Given the description of an element on the screen output the (x, y) to click on. 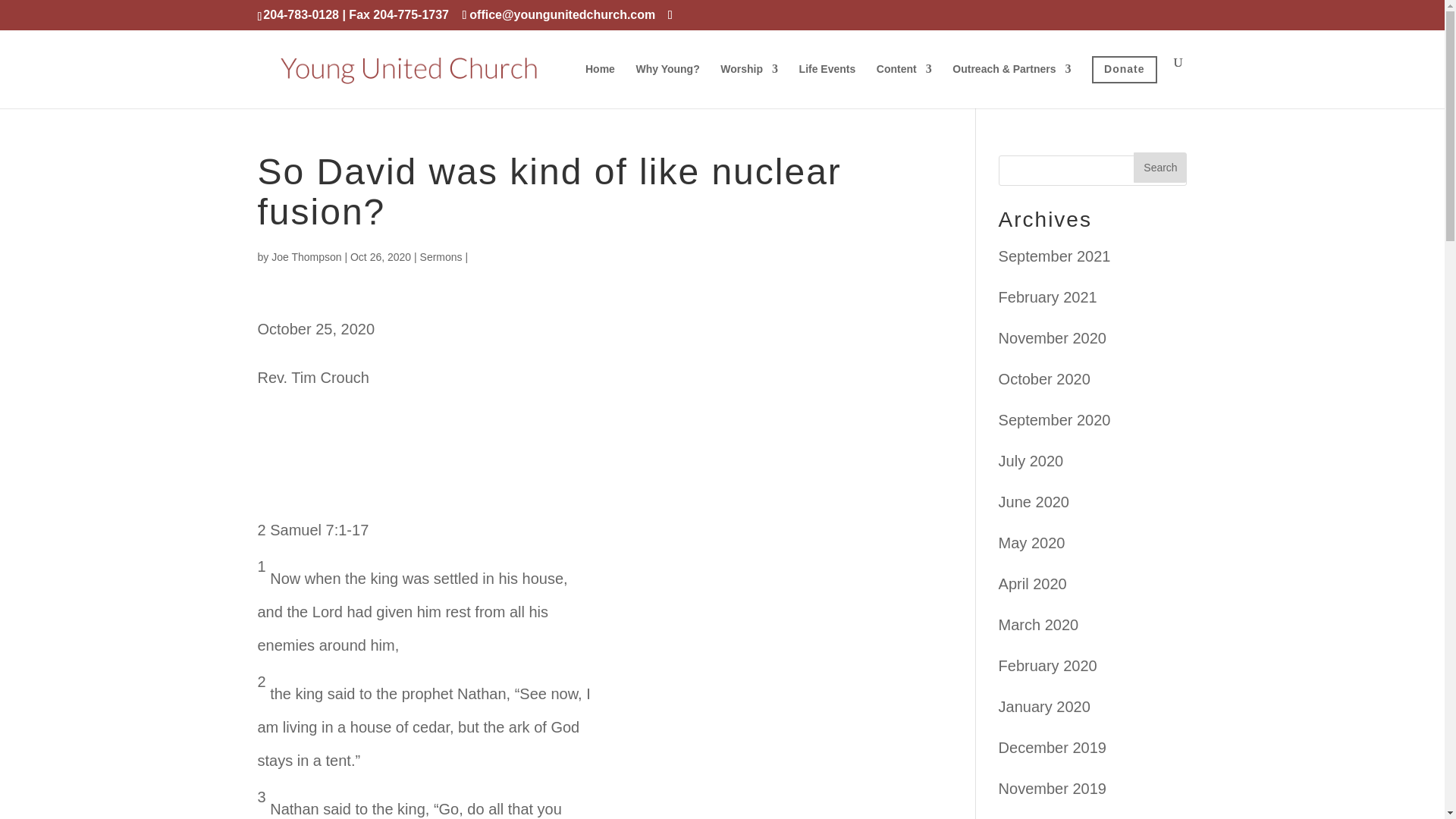
Worship (748, 81)
Life Events (827, 81)
Donate (1124, 82)
Posts by Joe Thompson (305, 256)
Sermons (441, 256)
Search (1160, 167)
February 2021 (1047, 297)
Content (903, 81)
September 2021 (1054, 256)
Search (1160, 167)
Why Young? (666, 81)
Joe Thompson (305, 256)
